Given the description of an element on the screen output the (x, y) to click on. 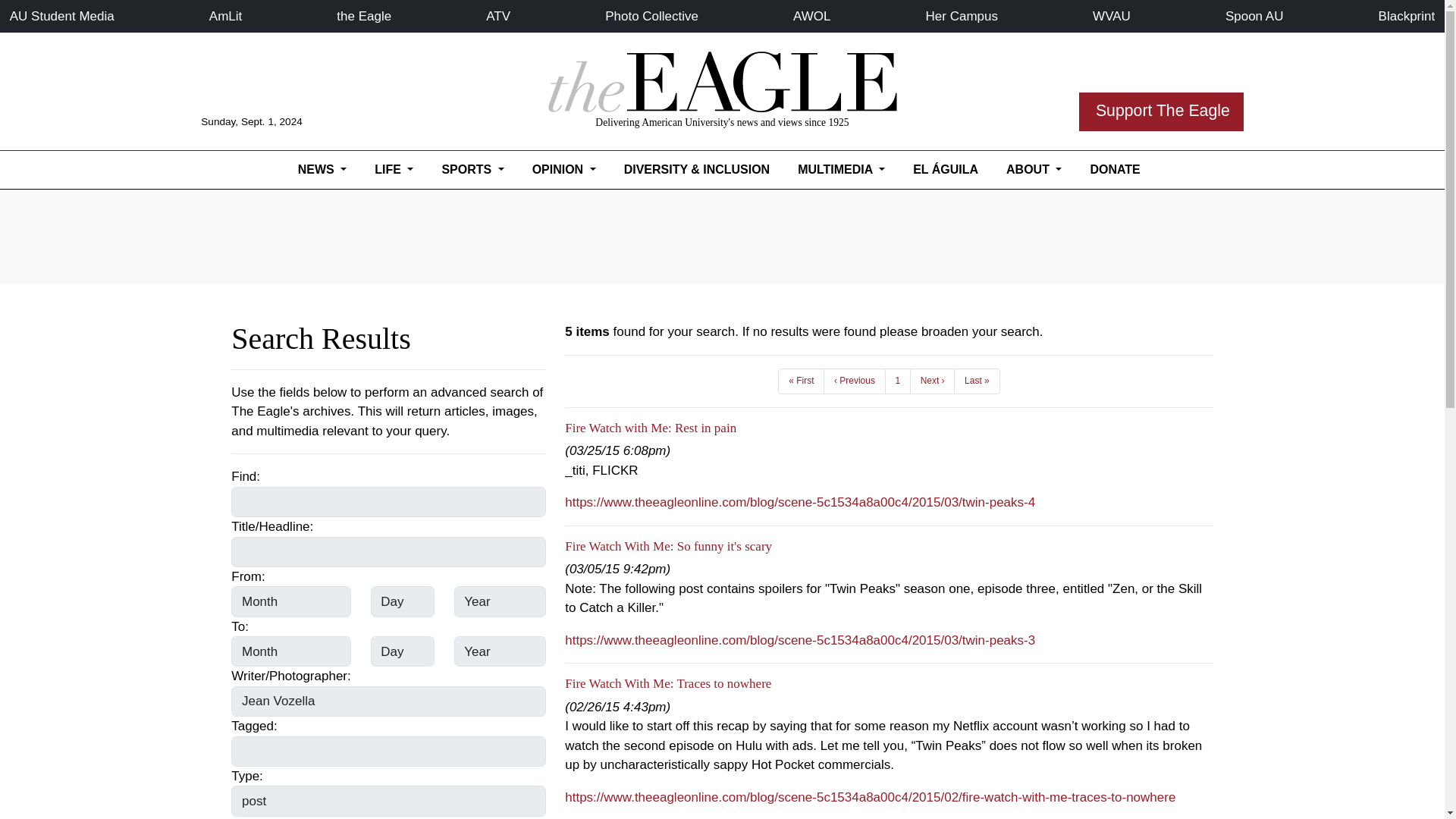
Spoon AU (1254, 16)
Support The Eagle (1160, 111)
Her Campus (961, 16)
Blackprint (1406, 16)
the Eagle (363, 16)
Jean Vozella (387, 701)
Donate (1115, 170)
LIFE (394, 170)
OPINION (563, 170)
AmLit (225, 16)
